Given the description of an element on the screen output the (x, y) to click on. 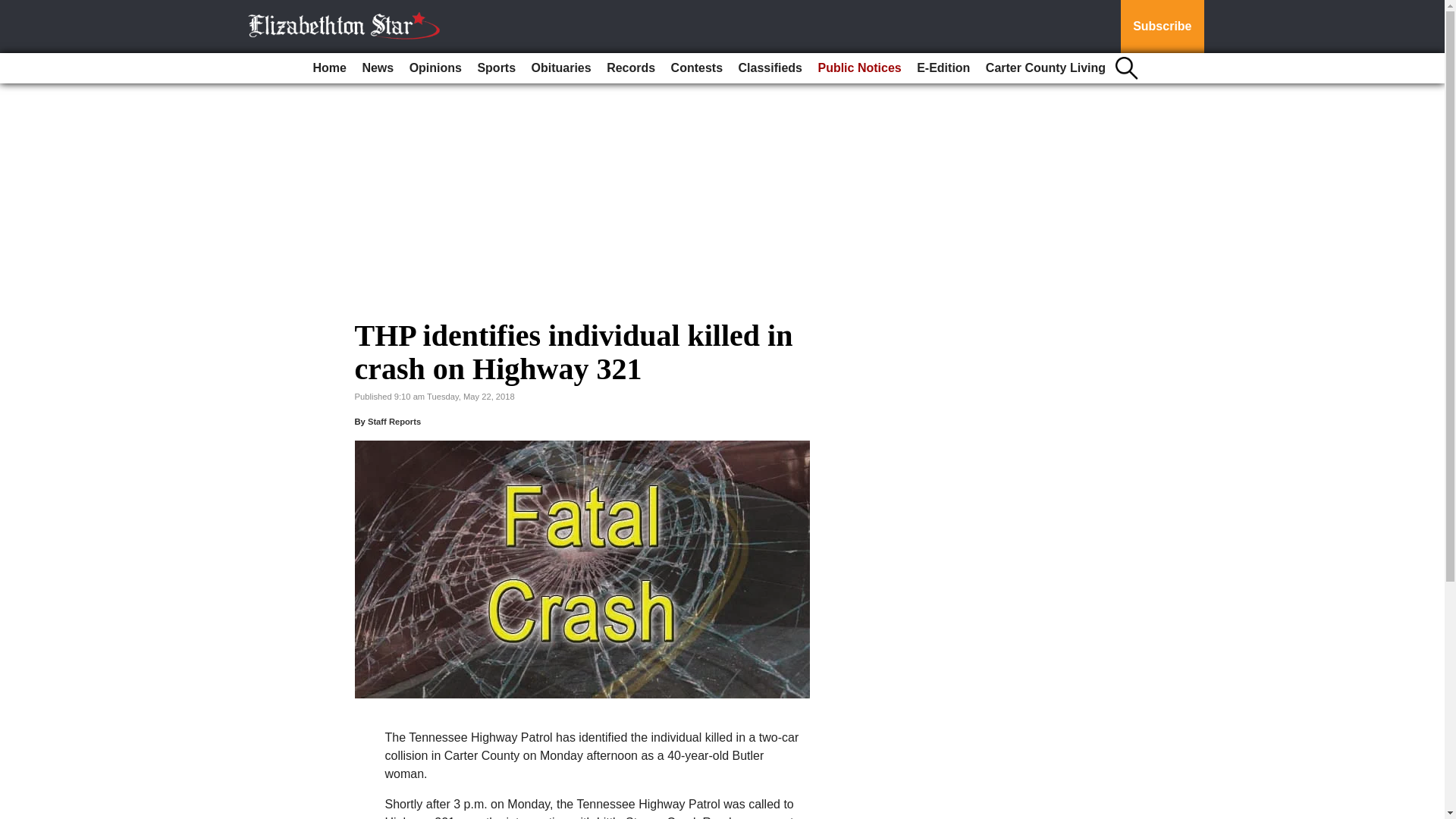
E-Edition (943, 68)
Home (328, 68)
Classifieds (770, 68)
Sports (495, 68)
Public Notices (858, 68)
Staff Reports (394, 420)
Subscribe (1162, 26)
Go (13, 9)
News (376, 68)
Obituaries (560, 68)
Carter County Living (1045, 68)
Contests (697, 68)
Records (630, 68)
Opinions (435, 68)
